Given the description of an element on the screen output the (x, y) to click on. 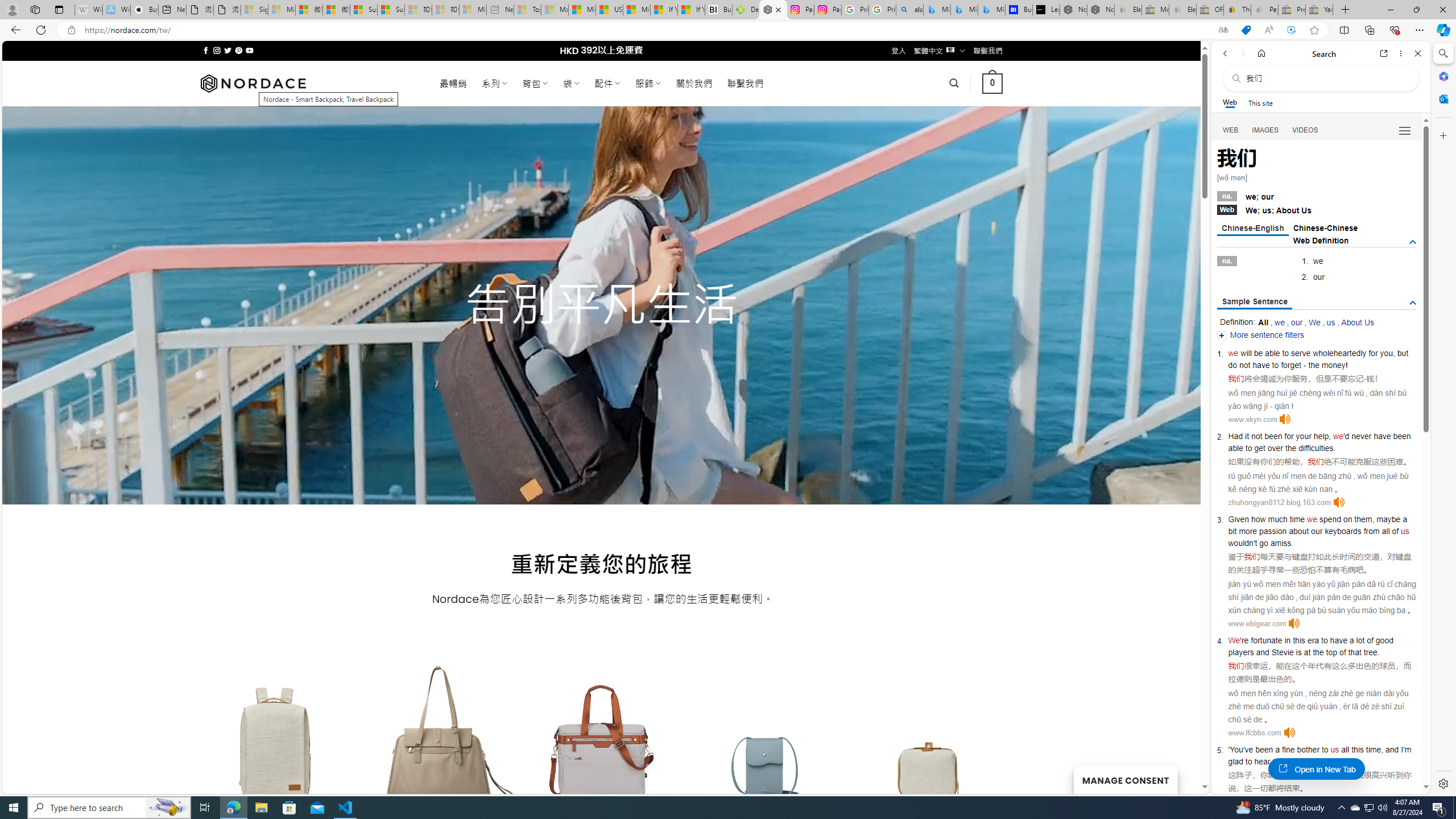
Given (1238, 519)
Follow on Instagram (216, 50)
You (1236, 749)
in (1287, 640)
